Given the description of an element on the screen output the (x, y) to click on. 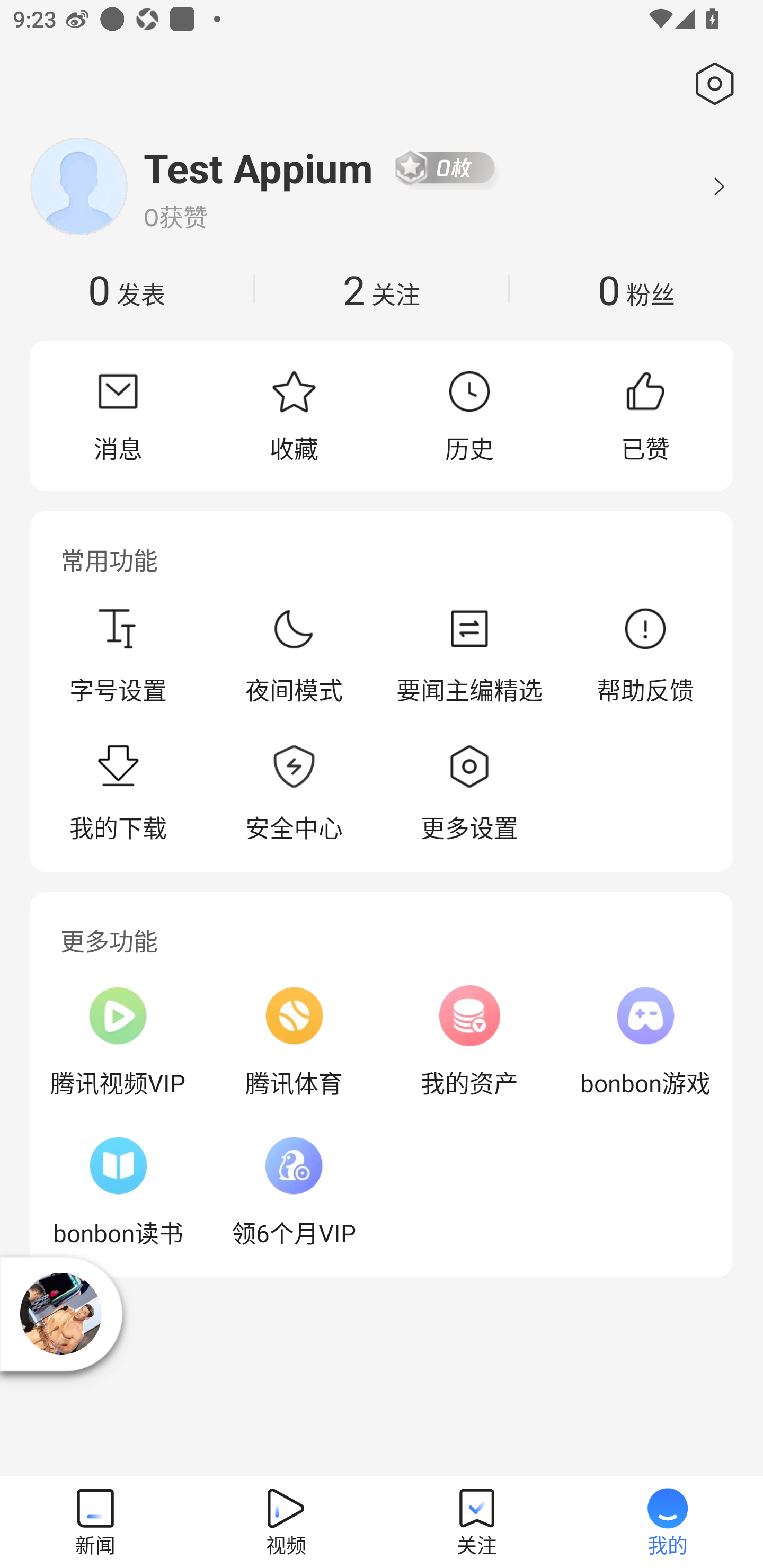
设置，可点击 (711, 83)
头像，可点击 (78, 186)
用户：Test Appium，可点击 (258, 167)
0枚勋章，可点击 (444, 167)
0发表，可点击 (126, 288)
2关注，可点击 (381, 288)
0粉丝，可点击 (636, 288)
消息，可点击 (118, 415)
收藏，可点击 (293, 415)
历史，可点击 (469, 415)
已赞，可点击 (644, 415)
字号设置，可点击 (118, 655)
夜间模式，可点击 (293, 655)
要闻主编精选，可点击 (469, 655)
帮助反馈，可点击 (644, 655)
我的下载，可点击 (118, 793)
安全中心，可点击 (293, 793)
更多设置，可点击 (469, 793)
腾讯视频VIP，可点击 (118, 1041)
腾讯体育，可点击 (293, 1041)
我的资产，可点击 (469, 1041)
bonbon游戏，可点击 (644, 1041)
bonbon读书，可点击 (118, 1191)
领6个月VIP，可点击 (293, 1191)
播放器 (60, 1313)
